Given the description of an element on the screen output the (x, y) to click on. 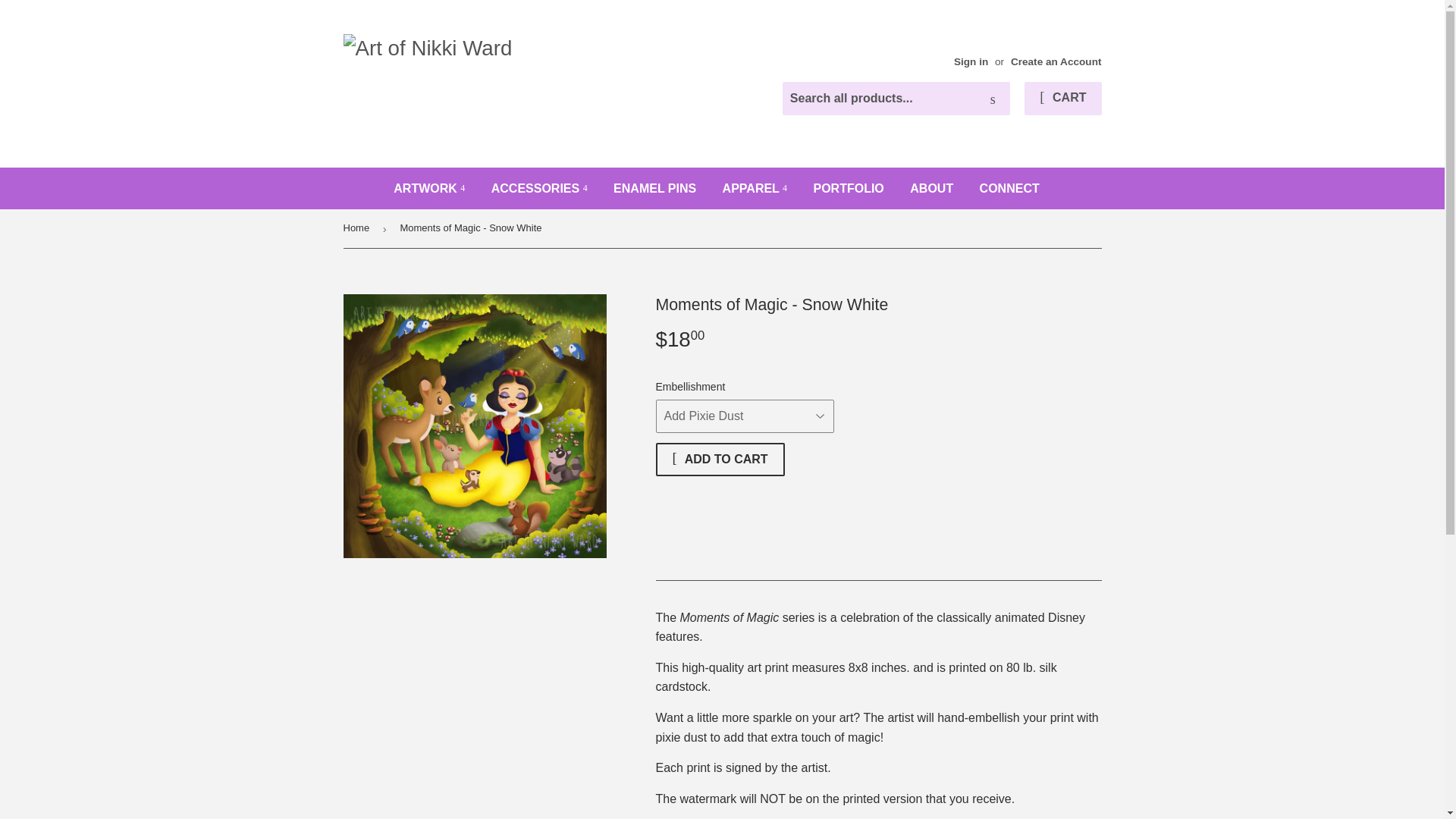
ARTWORK (428, 188)
Search (992, 99)
Sign in (970, 61)
ACCESSORIES (539, 188)
CART (1062, 98)
Create an Account (1056, 61)
